Given the description of an element on the screen output the (x, y) to click on. 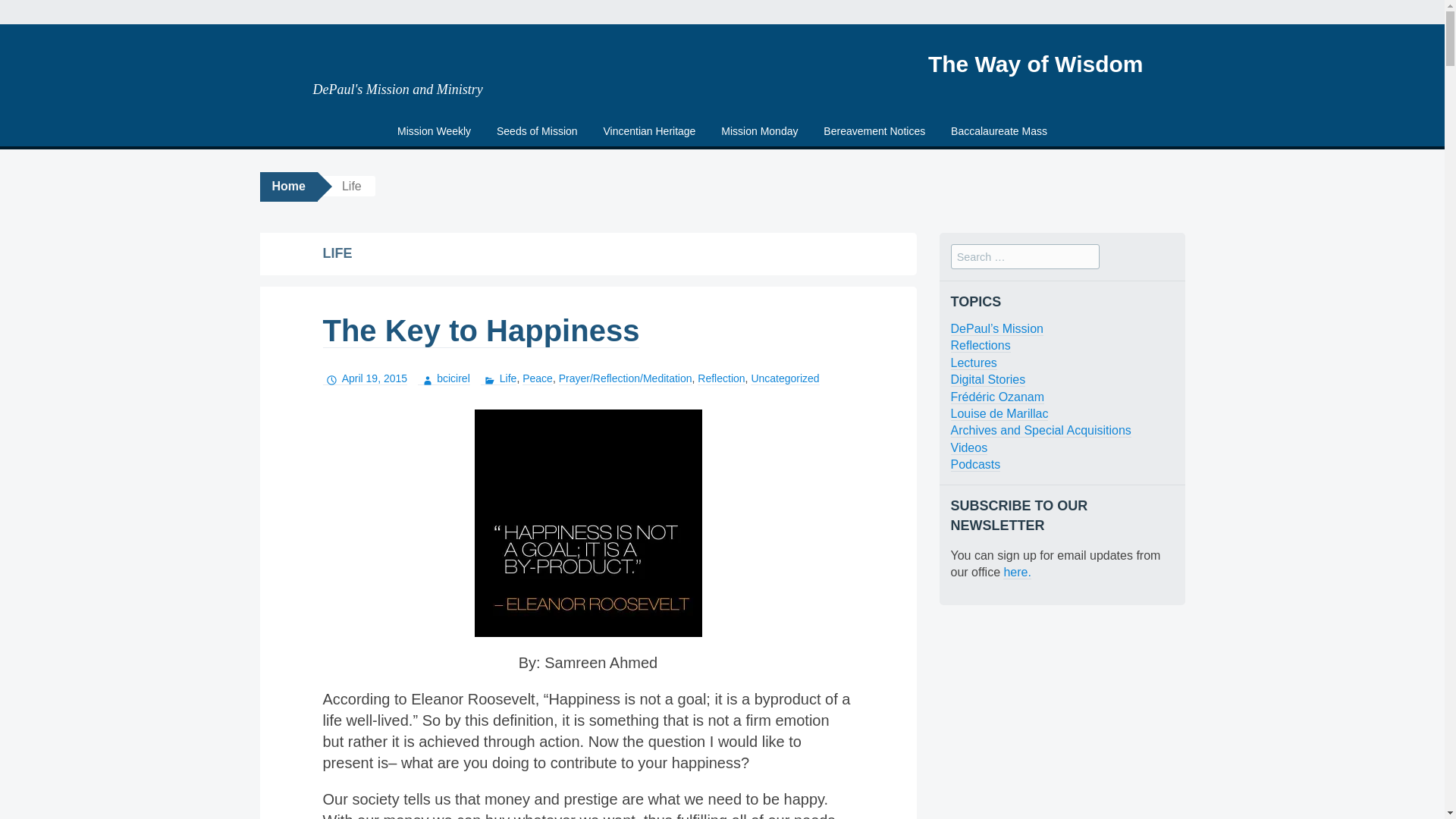
Baccalaureate Mass (998, 131)
Vincentian Heritage (648, 131)
Seeds of Mission (536, 131)
Life (498, 378)
Reflection (720, 378)
April 19, 2015 (365, 378)
The Key to Happiness (481, 330)
Bereavement Notices (874, 131)
The Way of Wisdom (1035, 64)
Peace (537, 378)
Mission Weekly (433, 131)
Mission Monday (759, 131)
Home (288, 186)
bcicirel (443, 378)
Uncategorized (784, 378)
